Given the description of an element on the screen output the (x, y) to click on. 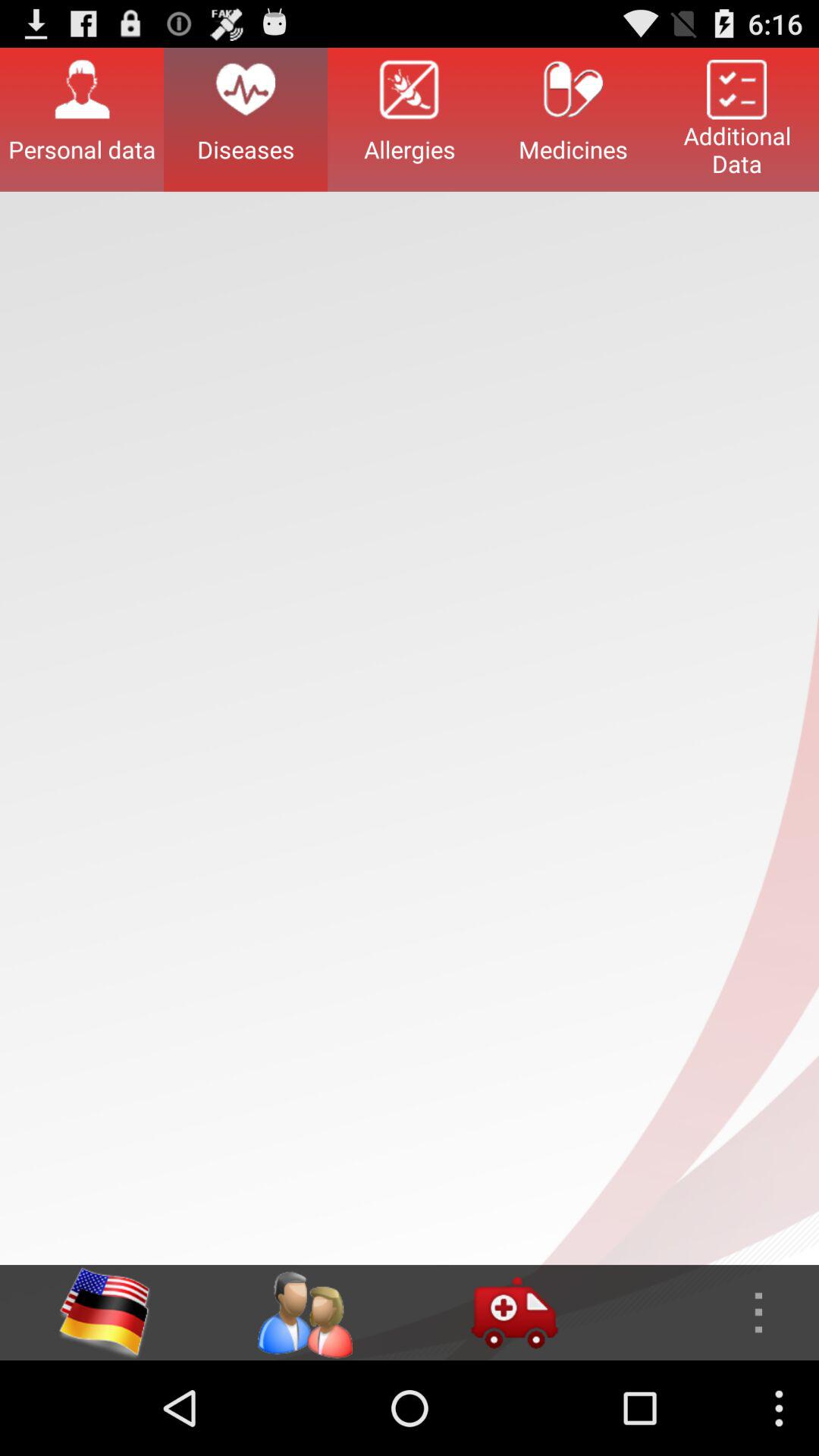
tap item below the diseases button (304, 1312)
